Given the description of an element on the screen output the (x, y) to click on. 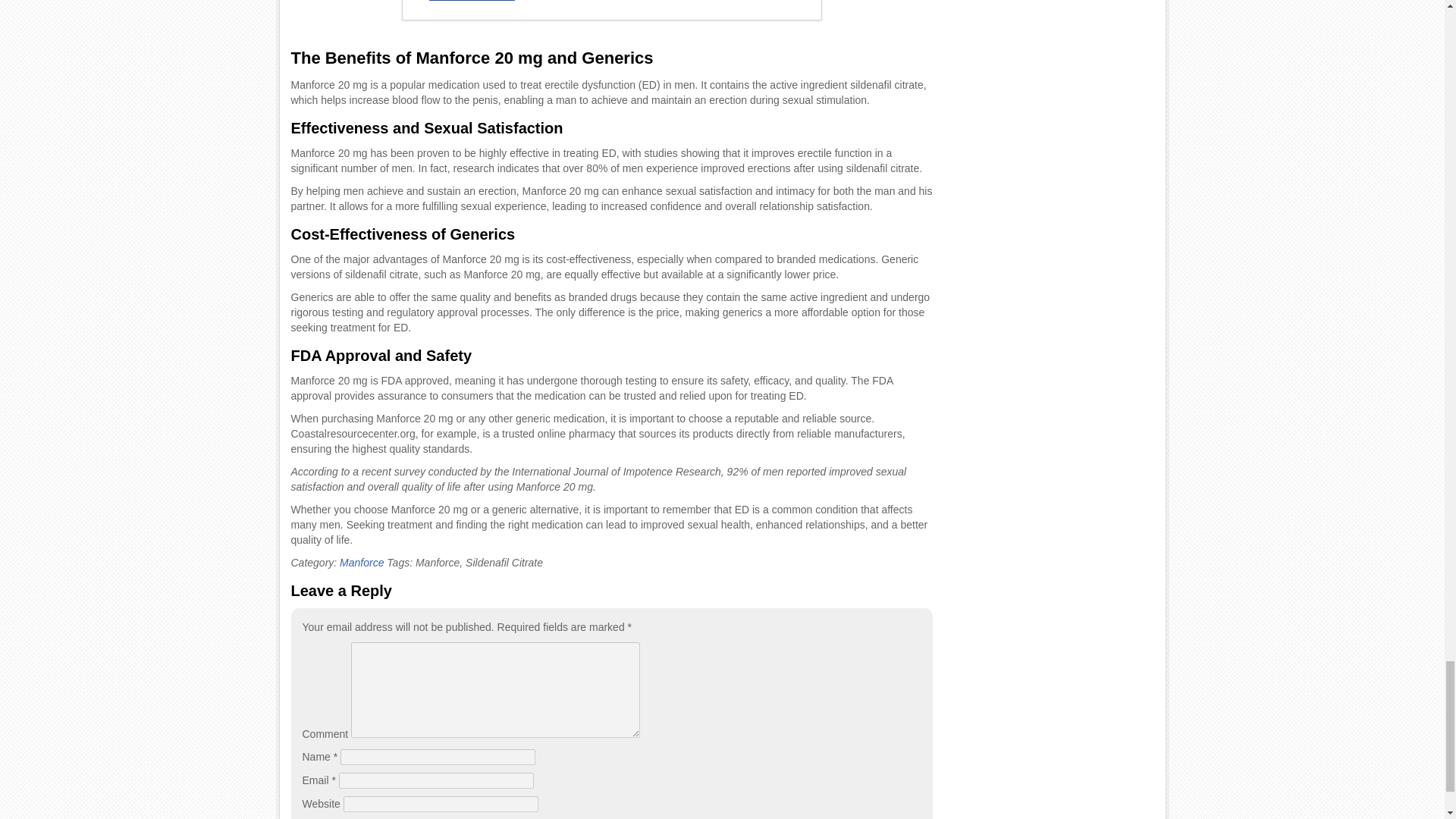
Manforce (361, 562)
